Given the description of an element on the screen output the (x, y) to click on. 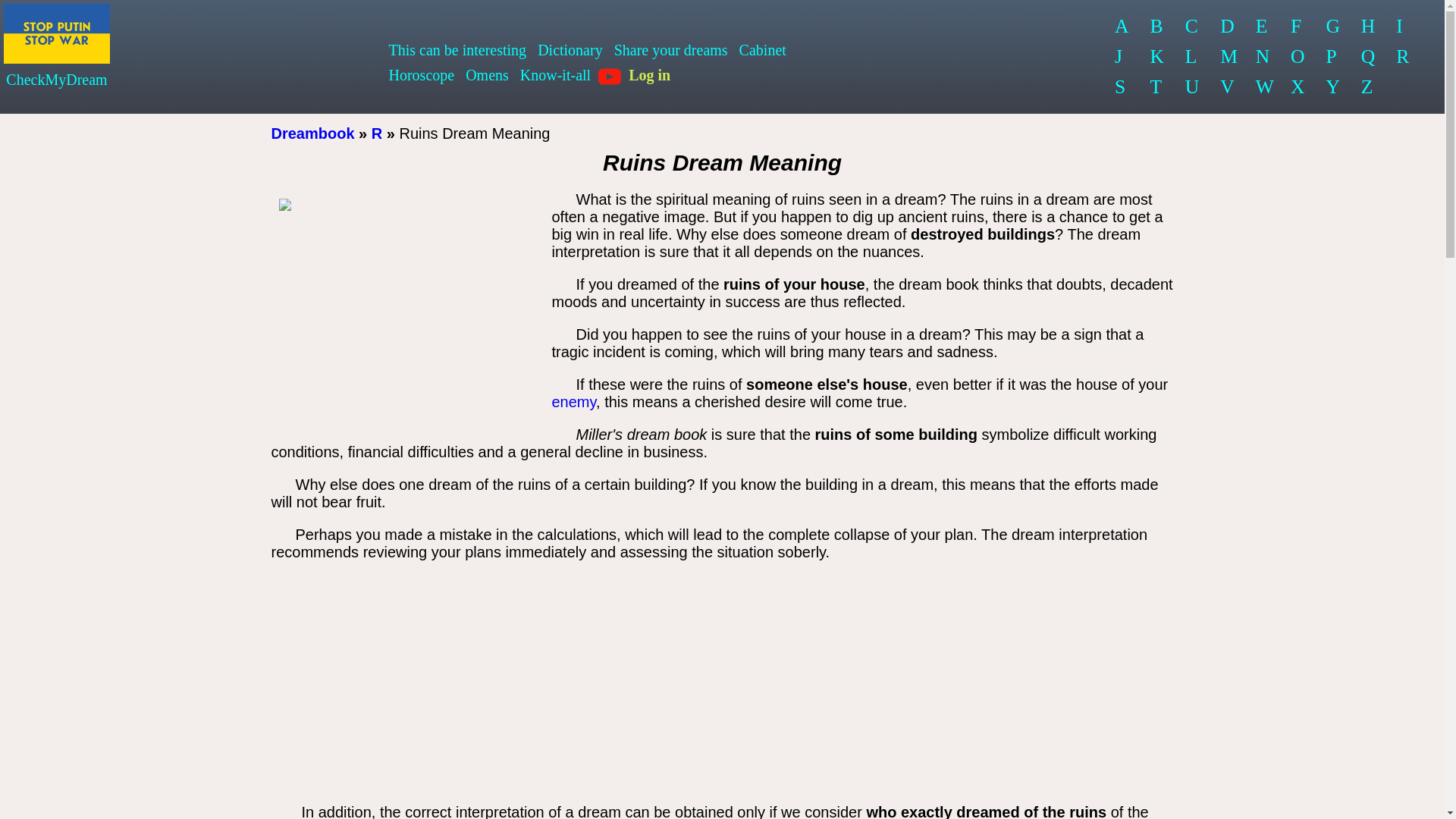
V (1227, 87)
E (1262, 26)
Dictionary (570, 50)
Y (1332, 87)
Know-it-all (555, 75)
Q (1369, 56)
X (1297, 87)
M (1227, 56)
K (1156, 56)
A (1121, 26)
D (1227, 26)
G (1332, 26)
R (1403, 56)
Horoscope (421, 75)
O (1297, 56)
